Given the description of an element on the screen output the (x, y) to click on. 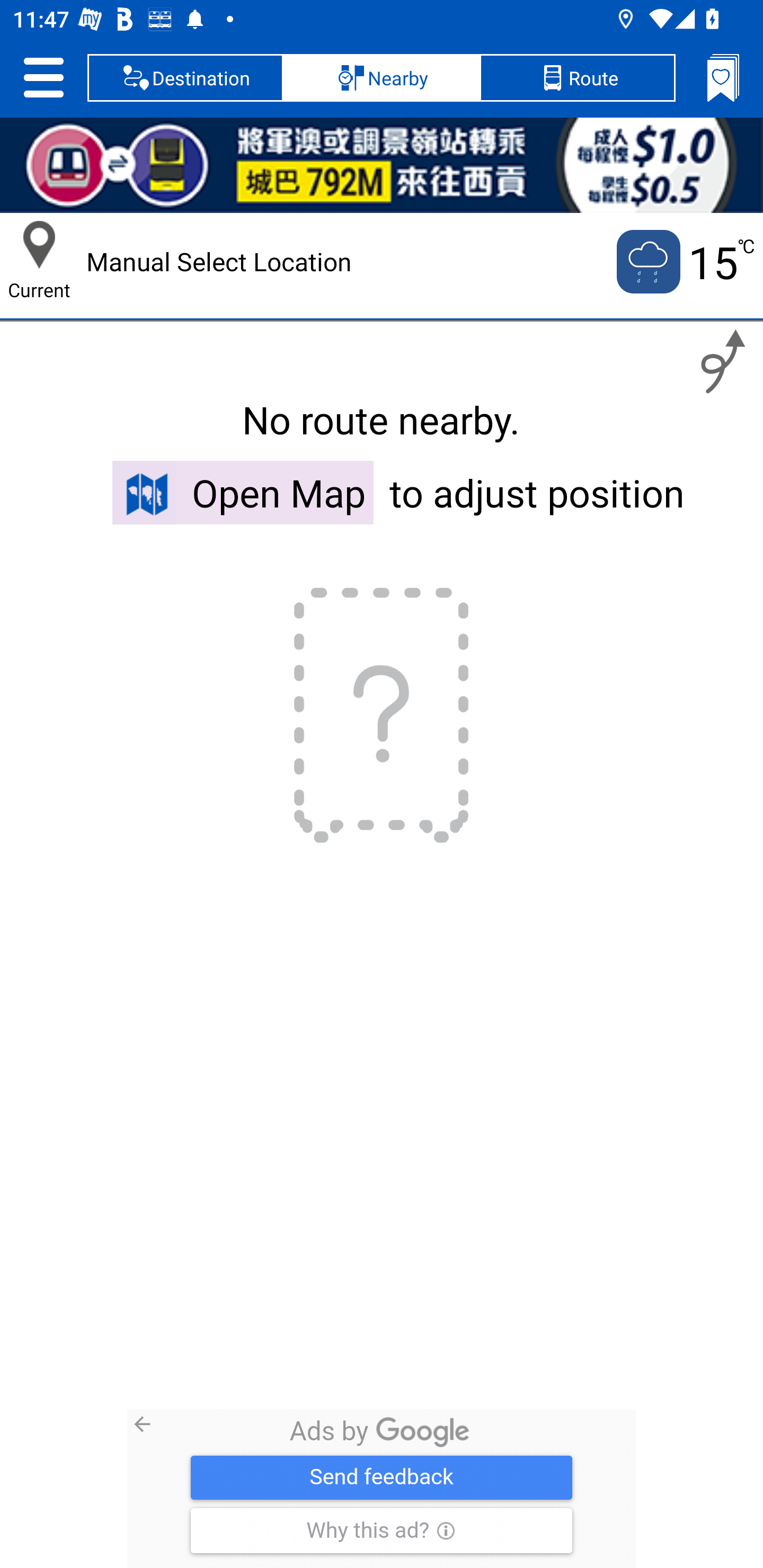
Destination (185, 77)
Nearby, selected (381, 77)
Route (577, 77)
Bookmarks (723, 77)
Setting (43, 77)
792M BRI (381, 165)
Current Location (38, 244)
Current temputure is  15  no 15 ℃ (684, 261)
Open Map (242, 491)
